Given the description of an element on the screen output the (x, y) to click on. 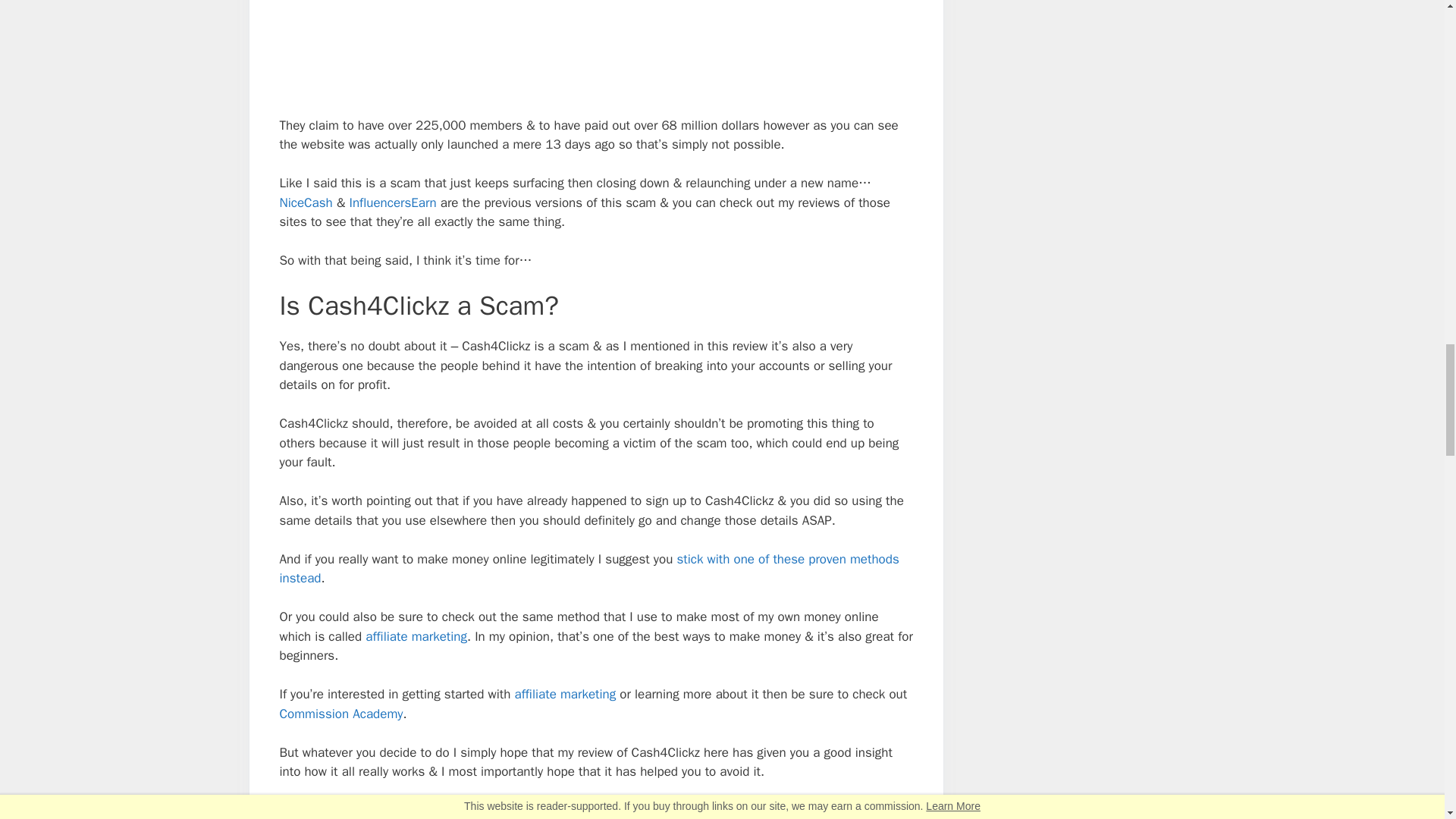
Commission Academy (341, 713)
InfluencersEarn (392, 202)
affiliate marketing (416, 636)
NiceCash (305, 202)
affiliate marketing (564, 693)
stick with one of these proven methods instead (588, 569)
